Given the description of an element on the screen output the (x, y) to click on. 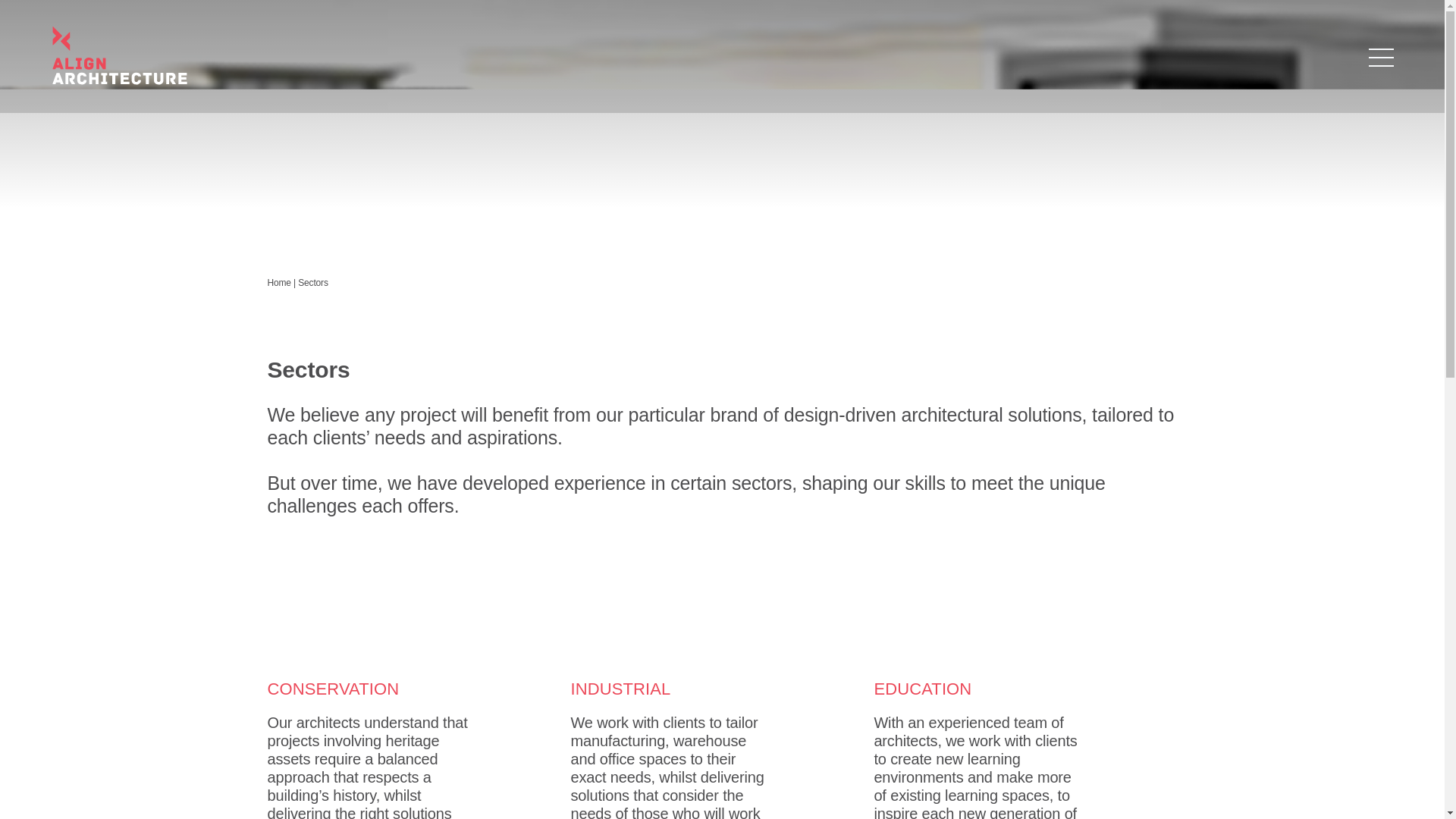
Home (280, 282)
